Given the description of an element on the screen output the (x, y) to click on. 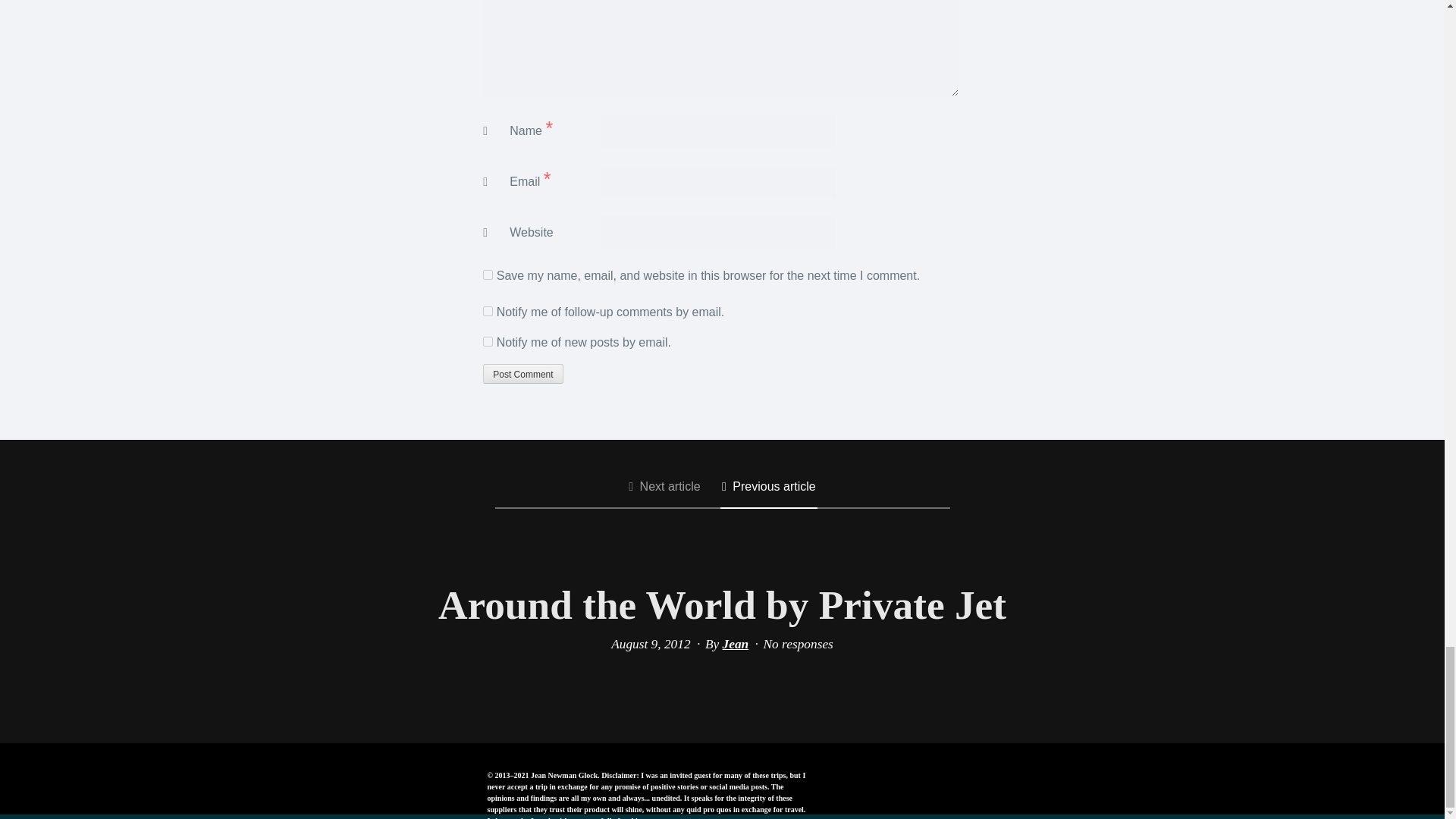
subscribe (488, 311)
Around the World by Private Jet (722, 605)
yes (488, 275)
subscribe (488, 341)
Post Comment (522, 373)
